Given the description of an element on the screen output the (x, y) to click on. 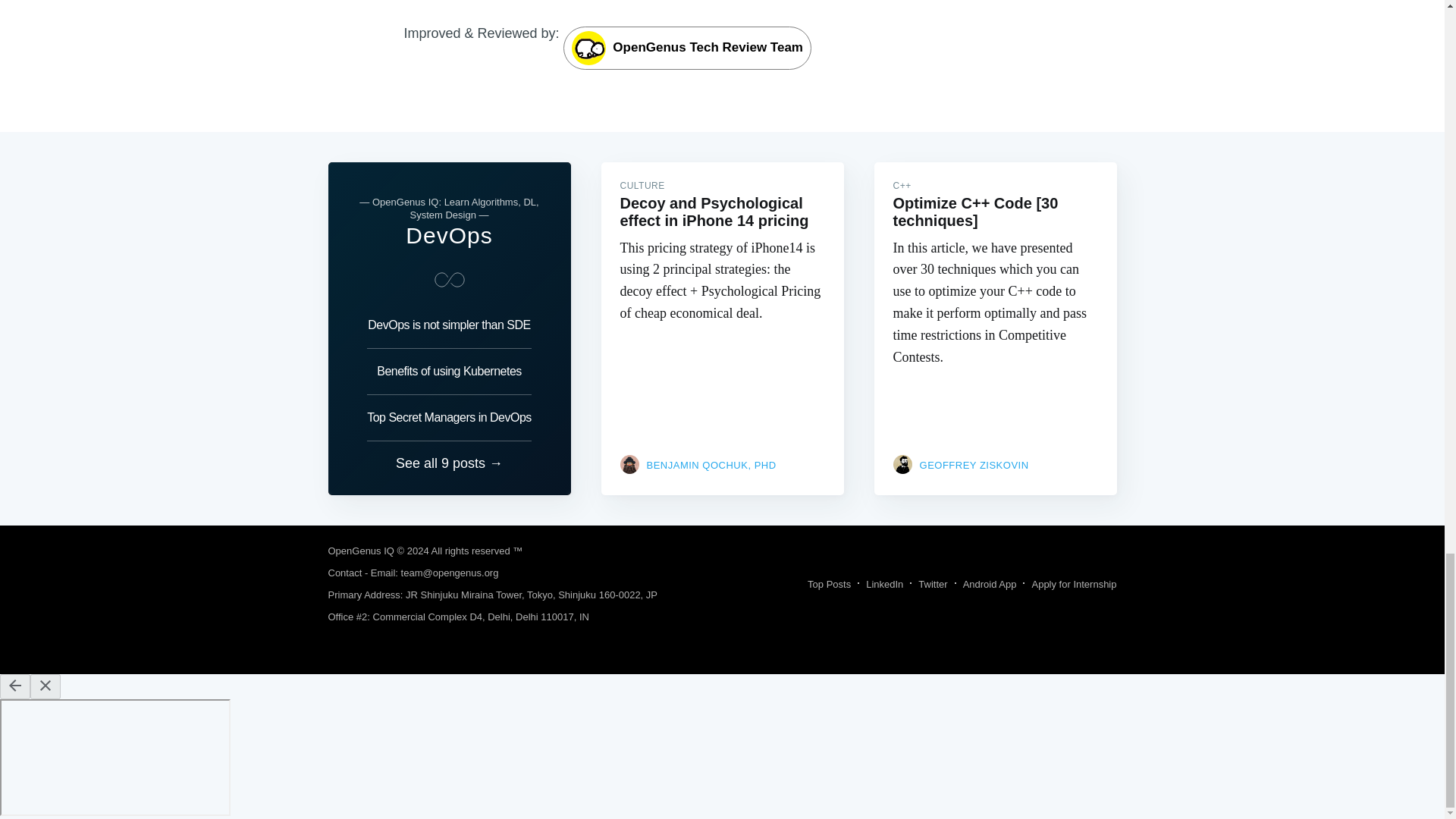
OpenGenus Tech Review Team (686, 47)
OpenGenus Tech Review Team (687, 47)
